Given the description of an element on the screen output the (x, y) to click on. 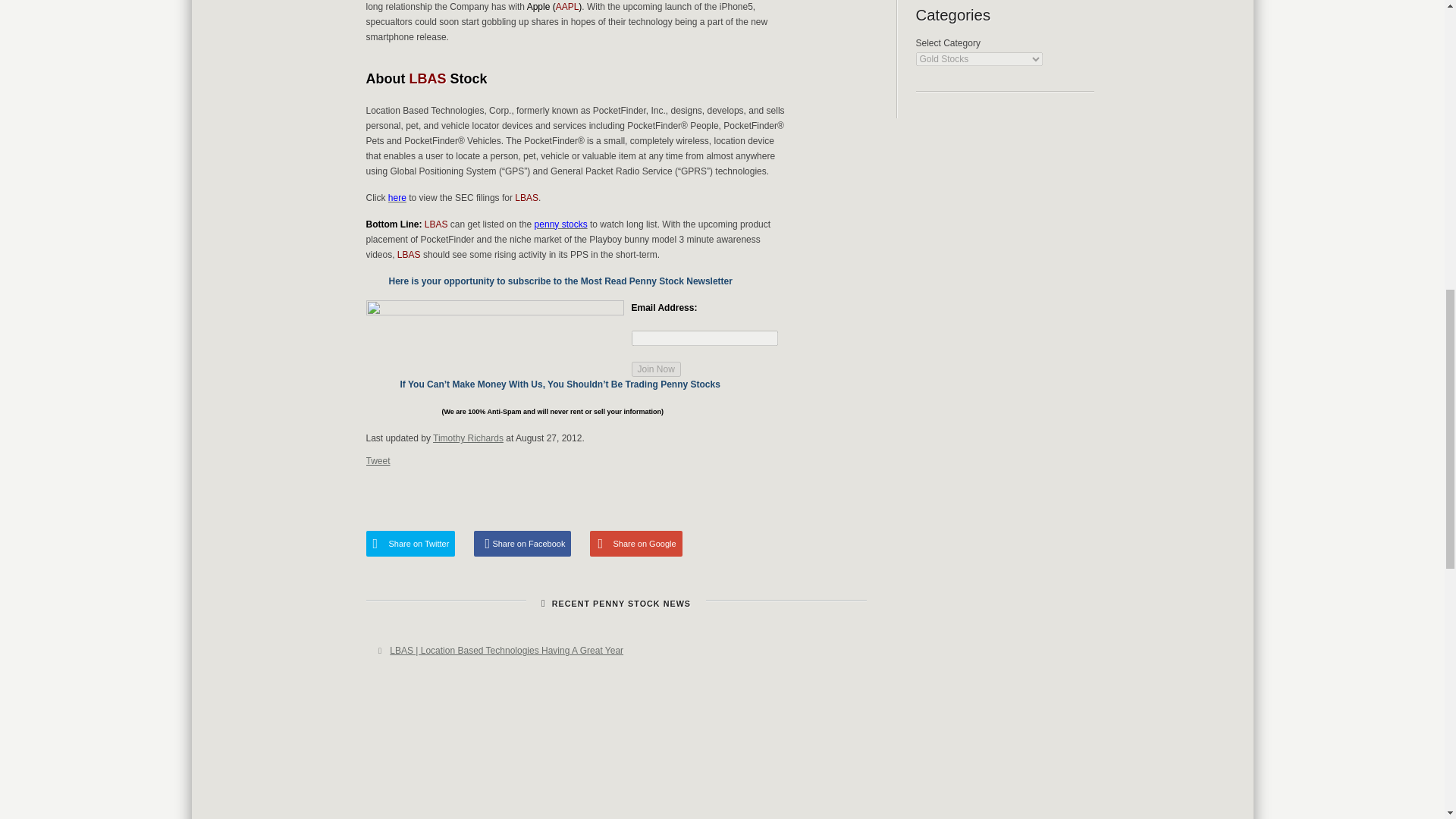
Tweet (377, 460)
Share (834, 495)
Share on Facebook (522, 543)
Join Now (654, 368)
here (397, 197)
penny stocks (561, 224)
Share on Google (635, 543)
Join Now (654, 368)
Share on Twitter (409, 543)
Timothy Richards (467, 438)
